Given the description of an element on the screen output the (x, y) to click on. 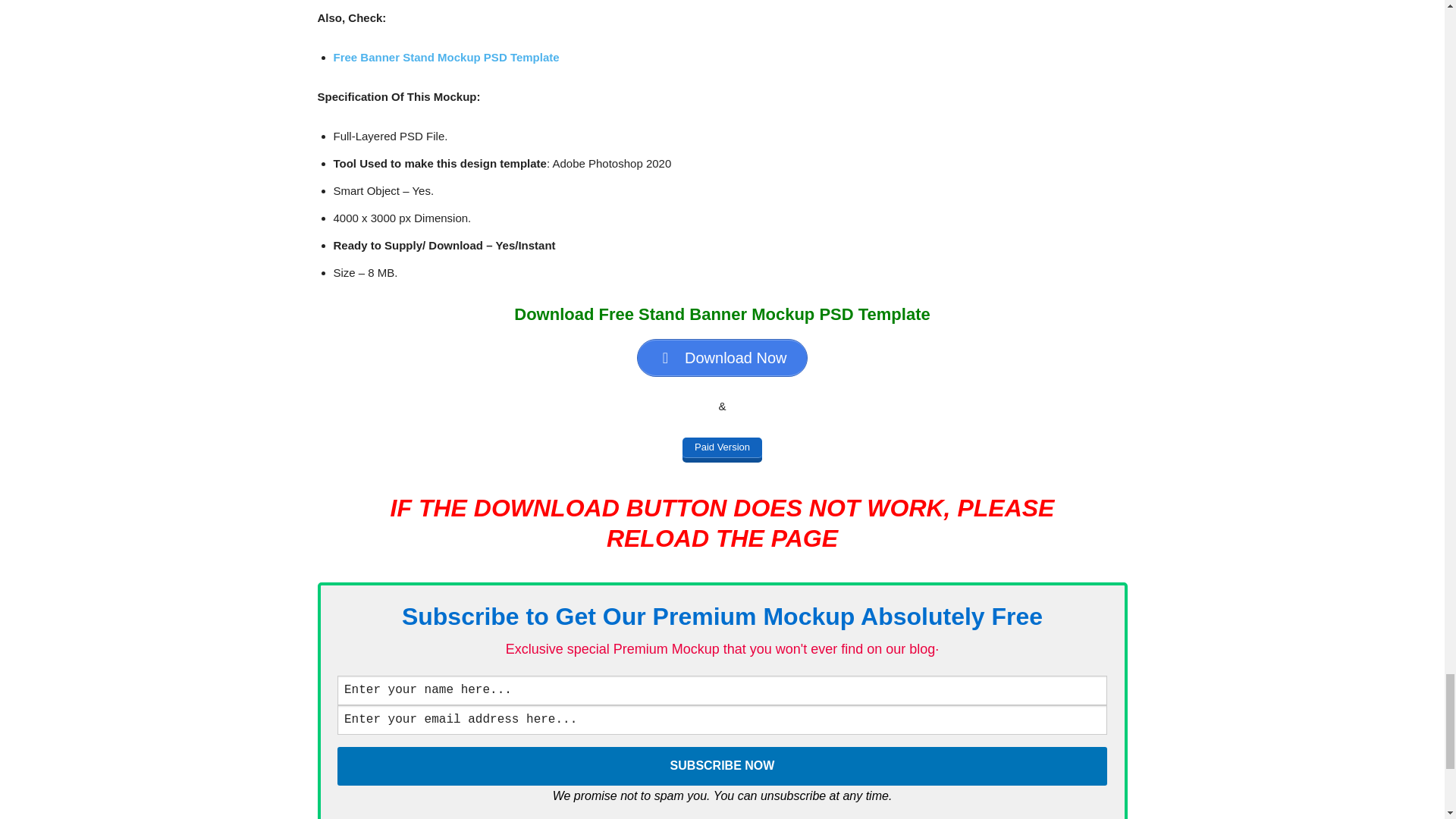
Subscribe Now (721, 765)
